Given the description of an element on the screen output the (x, y) to click on. 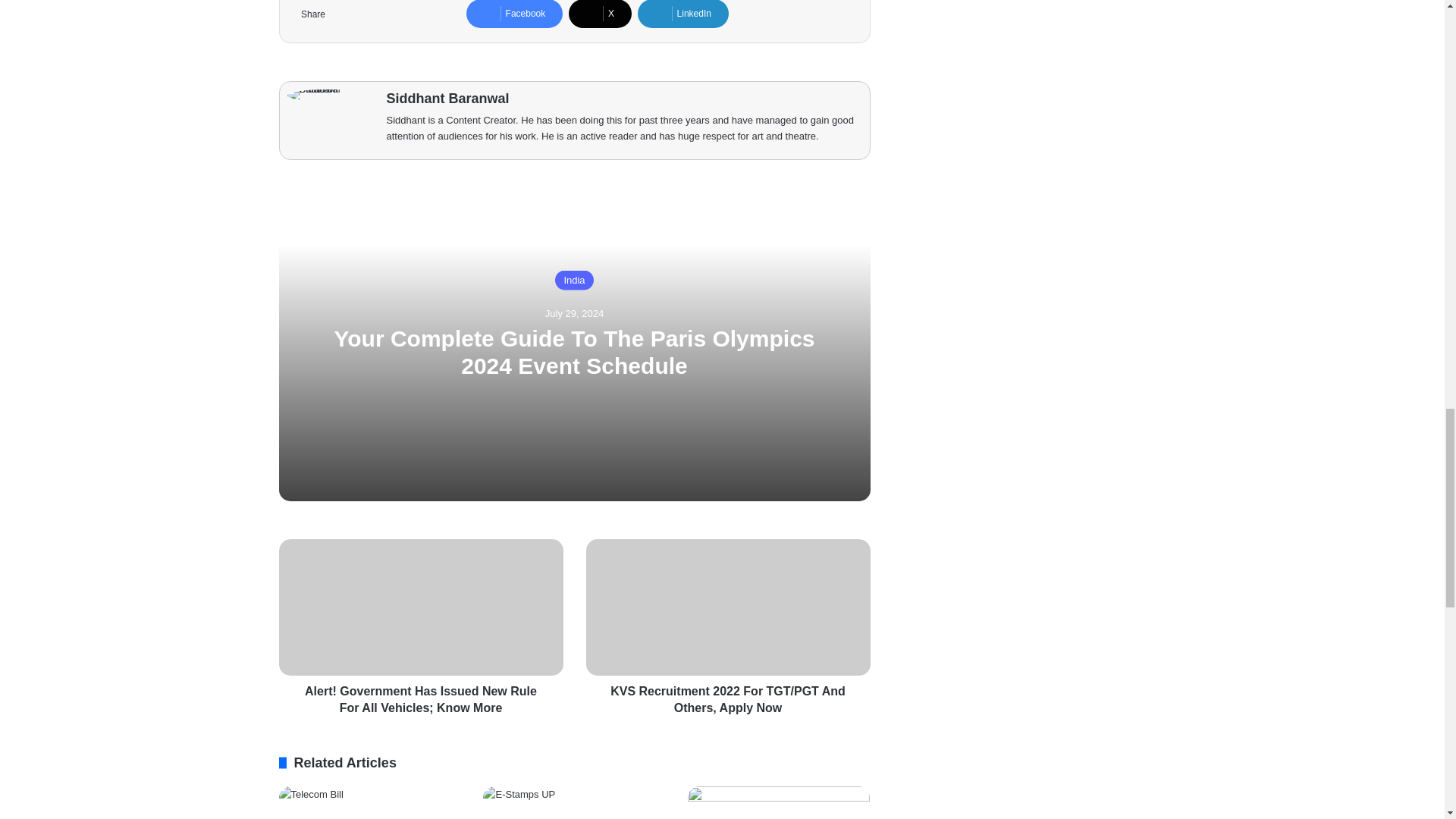
Facebook (514, 13)
